Given the description of an element on the screen output the (x, y) to click on. 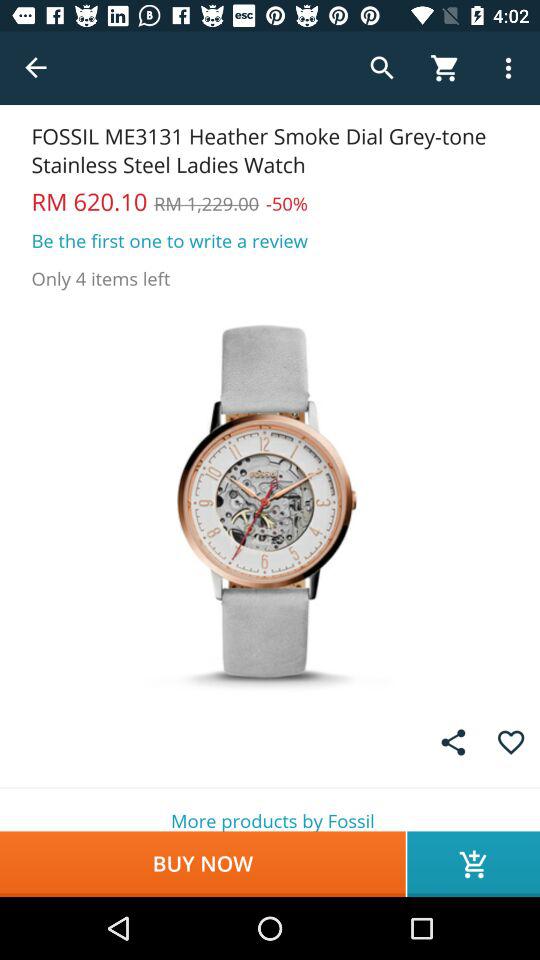
open the icon at the center (269, 500)
